Given the description of an element on the screen output the (x, y) to click on. 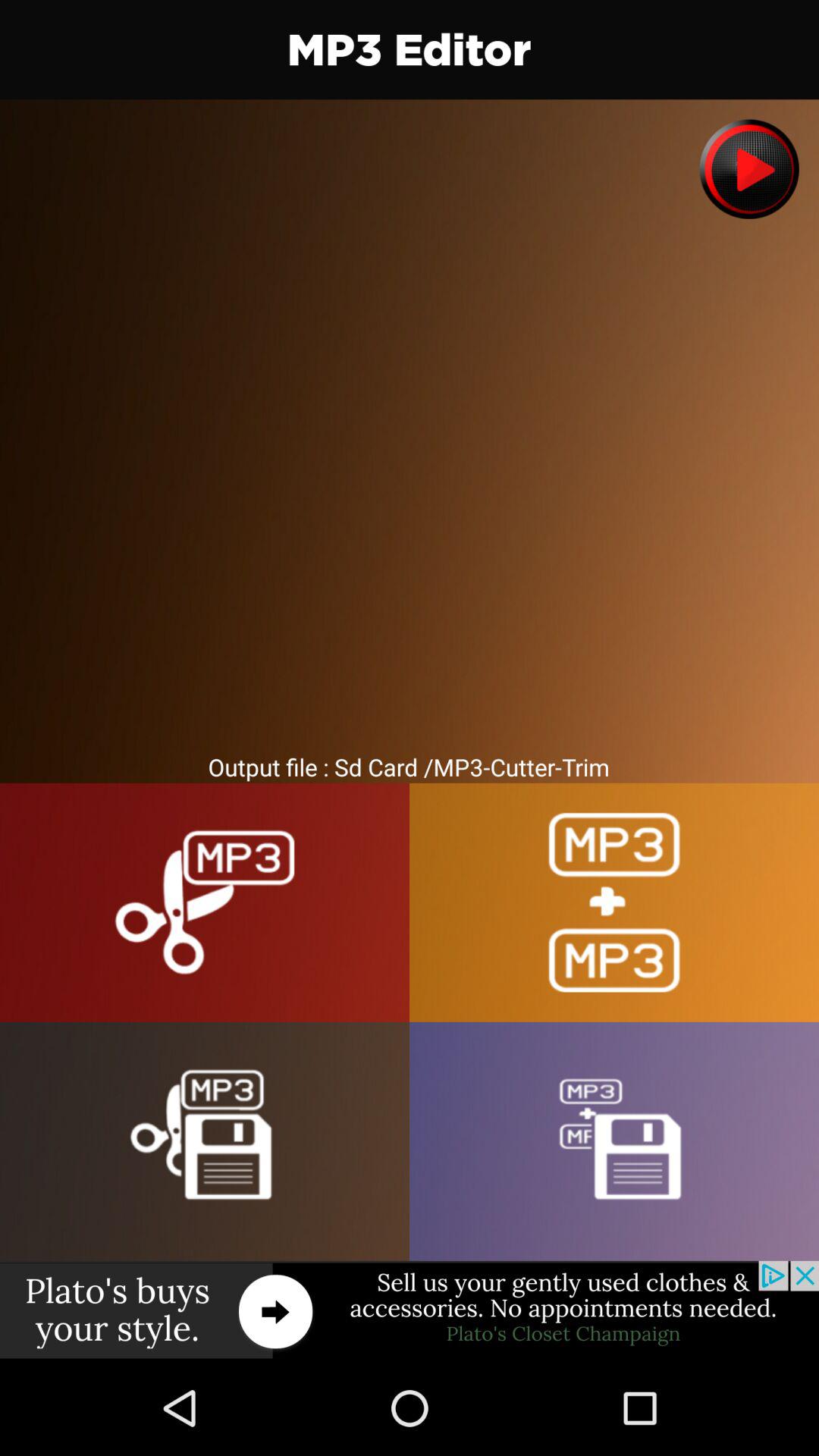
toggle play option (749, 168)
